Given the description of an element on the screen output the (x, y) to click on. 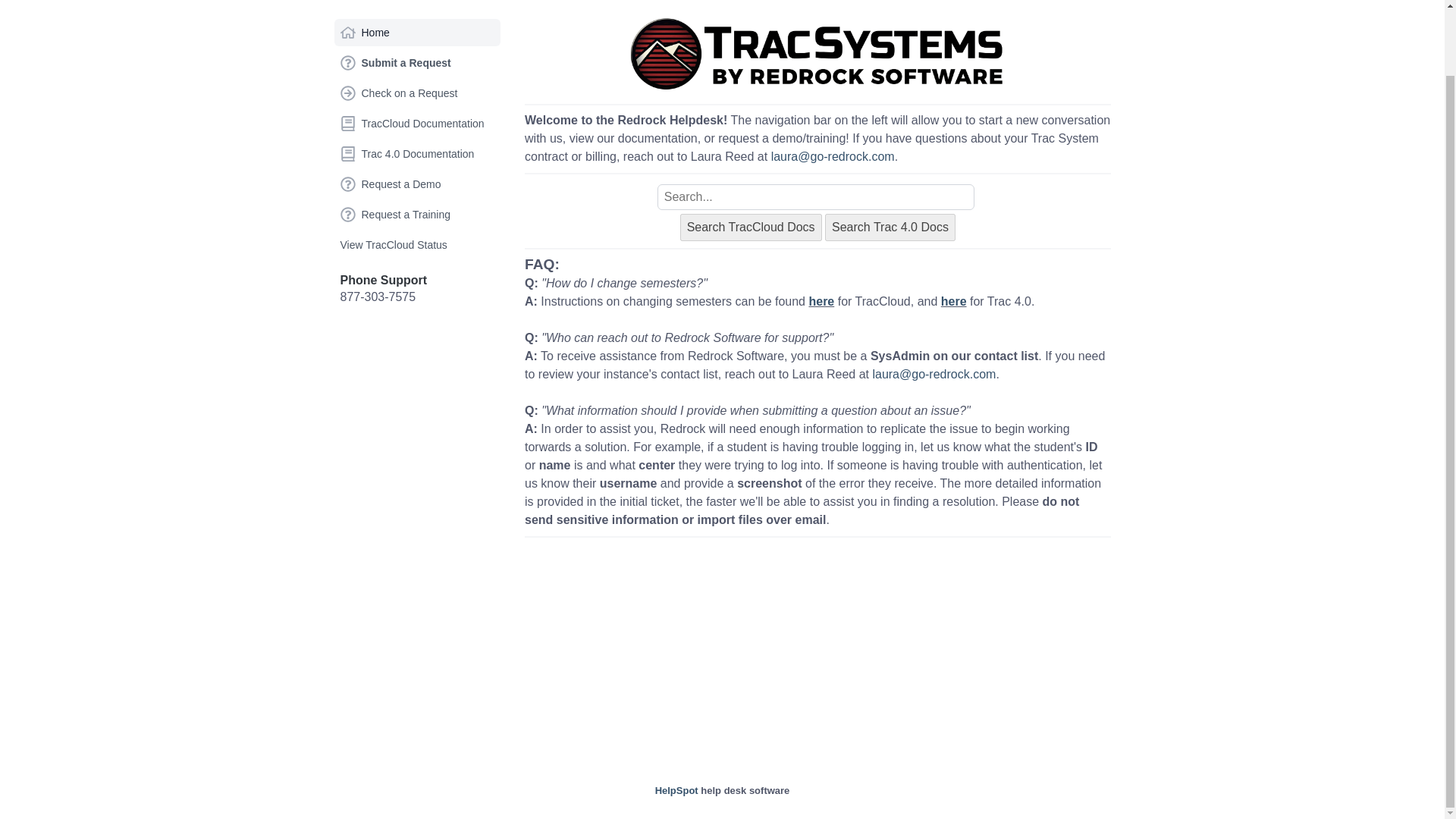
Check on a Request (416, 93)
Request a Training (416, 214)
HelpSpot (676, 790)
Home (416, 31)
Search Trac 4.0 Docs (890, 226)
here (821, 300)
here (953, 300)
Submit a Request (416, 62)
View TracCloud Status (416, 244)
Request a Demo (416, 184)
